Given the description of an element on the screen output the (x, y) to click on. 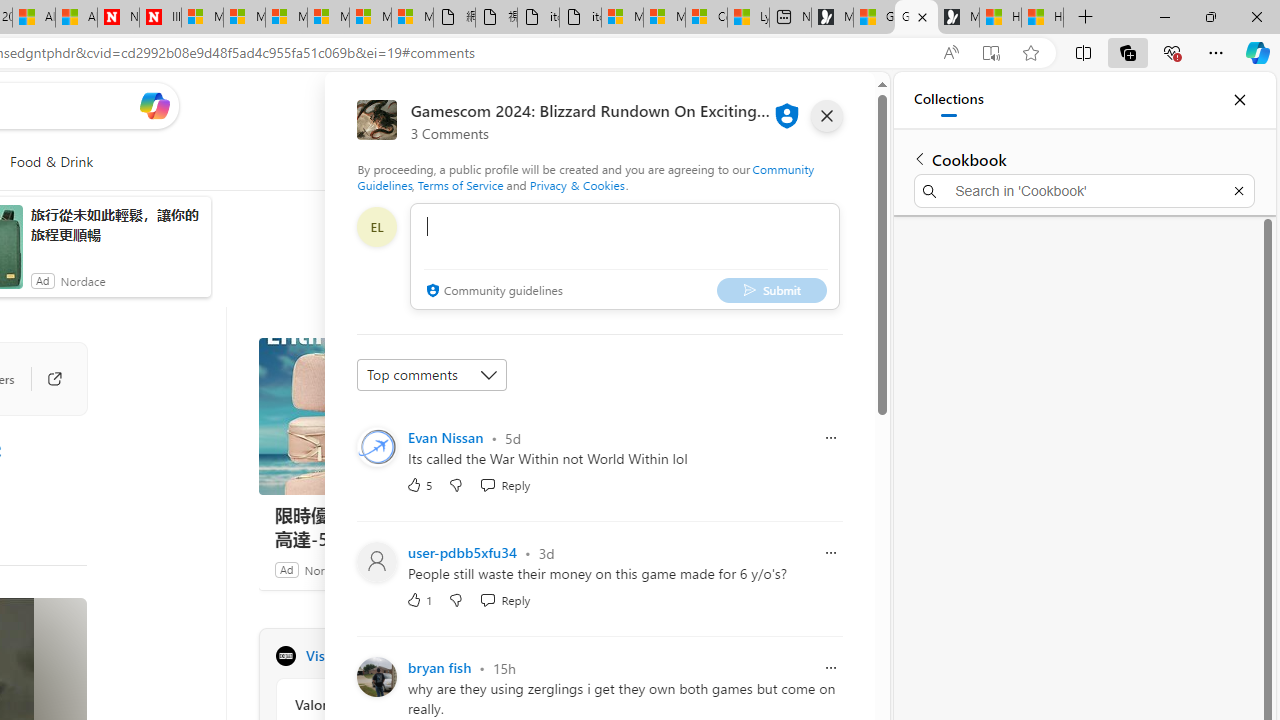
Visit CGMagazine website (532, 655)
bryan fish (440, 668)
Report comment (831, 667)
1 Like (419, 600)
How to Use a TV as a Computer Monitor (1042, 17)
Sort comments by (431, 374)
close (827, 115)
